Given the description of an element on the screen output the (x, y) to click on. 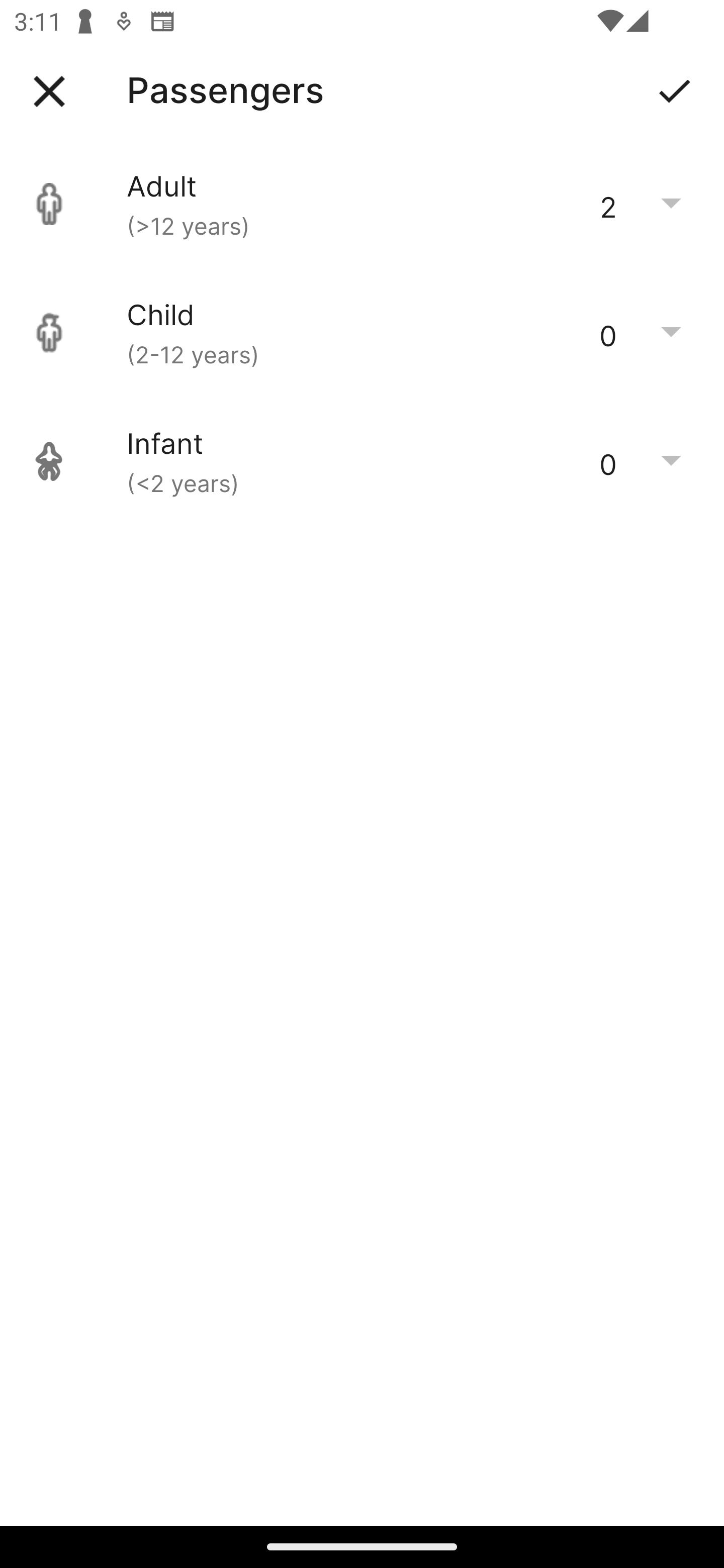
Adult (>12 years) 2 (362, 204)
Child (2-12 years) 0 (362, 332)
Infant (<2 years) 0 (362, 461)
